Given the description of an element on the screen output the (x, y) to click on. 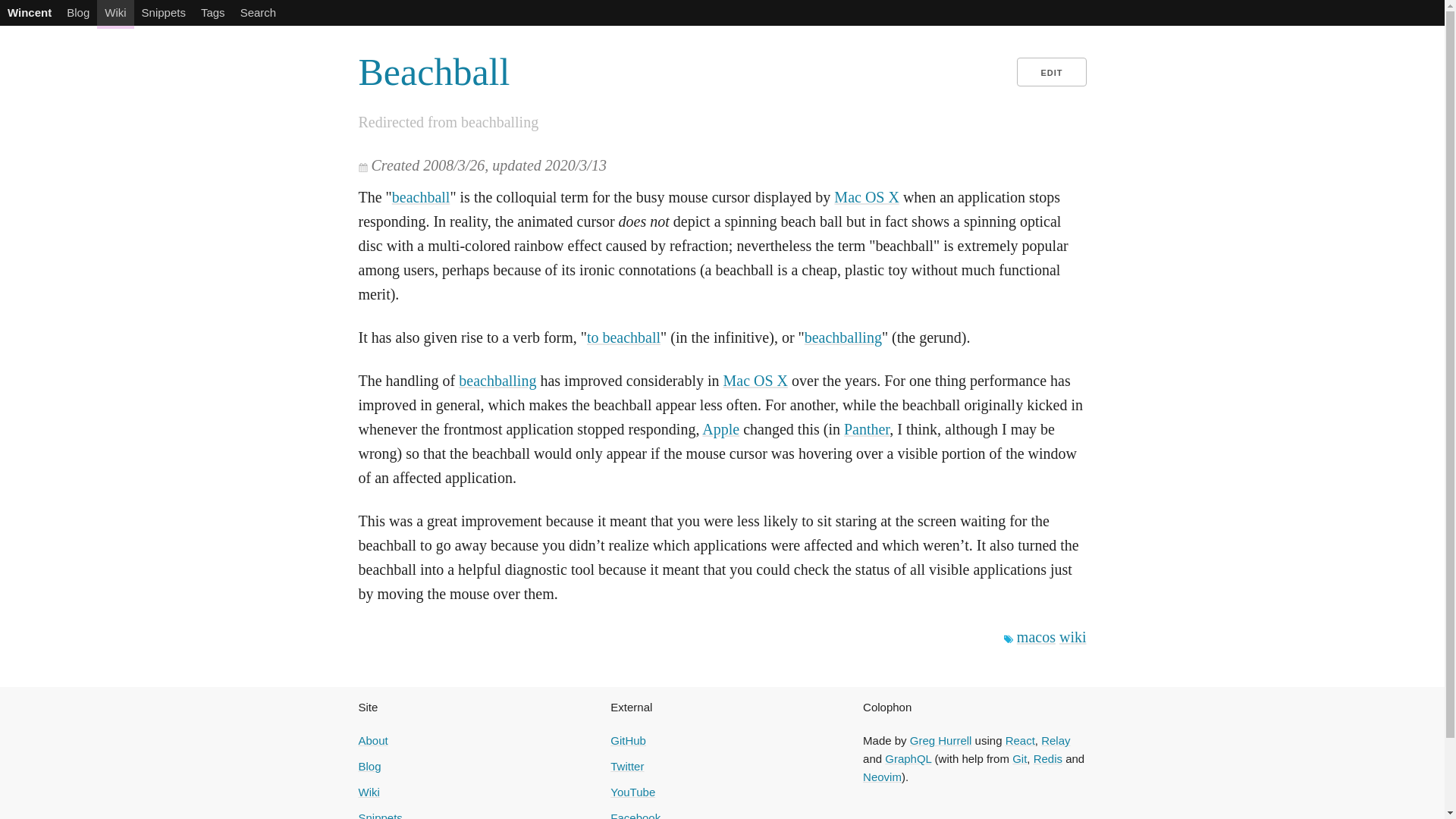
Wincent (29, 12)
GraphQL (908, 758)
Search (257, 12)
Git (1018, 758)
Snippets (163, 12)
Twitter (626, 766)
wiki (1072, 636)
EDIT (1051, 71)
Redis (1047, 758)
YouTube (632, 791)
Mac OS X (756, 380)
Panther (866, 428)
beachballing (496, 380)
GitHub (628, 739)
beachballing (843, 337)
